Given the description of an element on the screen output the (x, y) to click on. 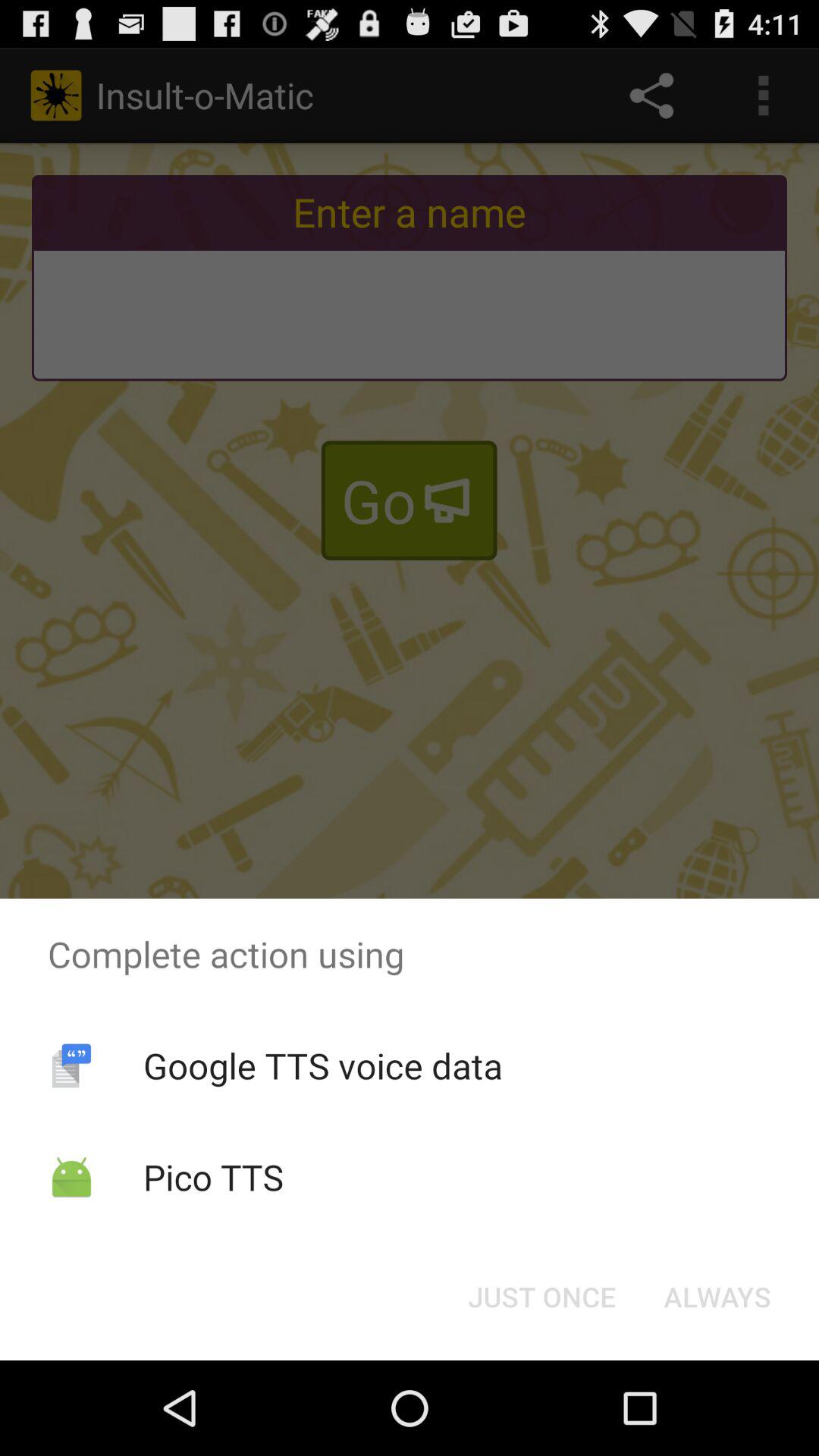
press icon next to the just once item (717, 1296)
